Given the description of an element on the screen output the (x, y) to click on. 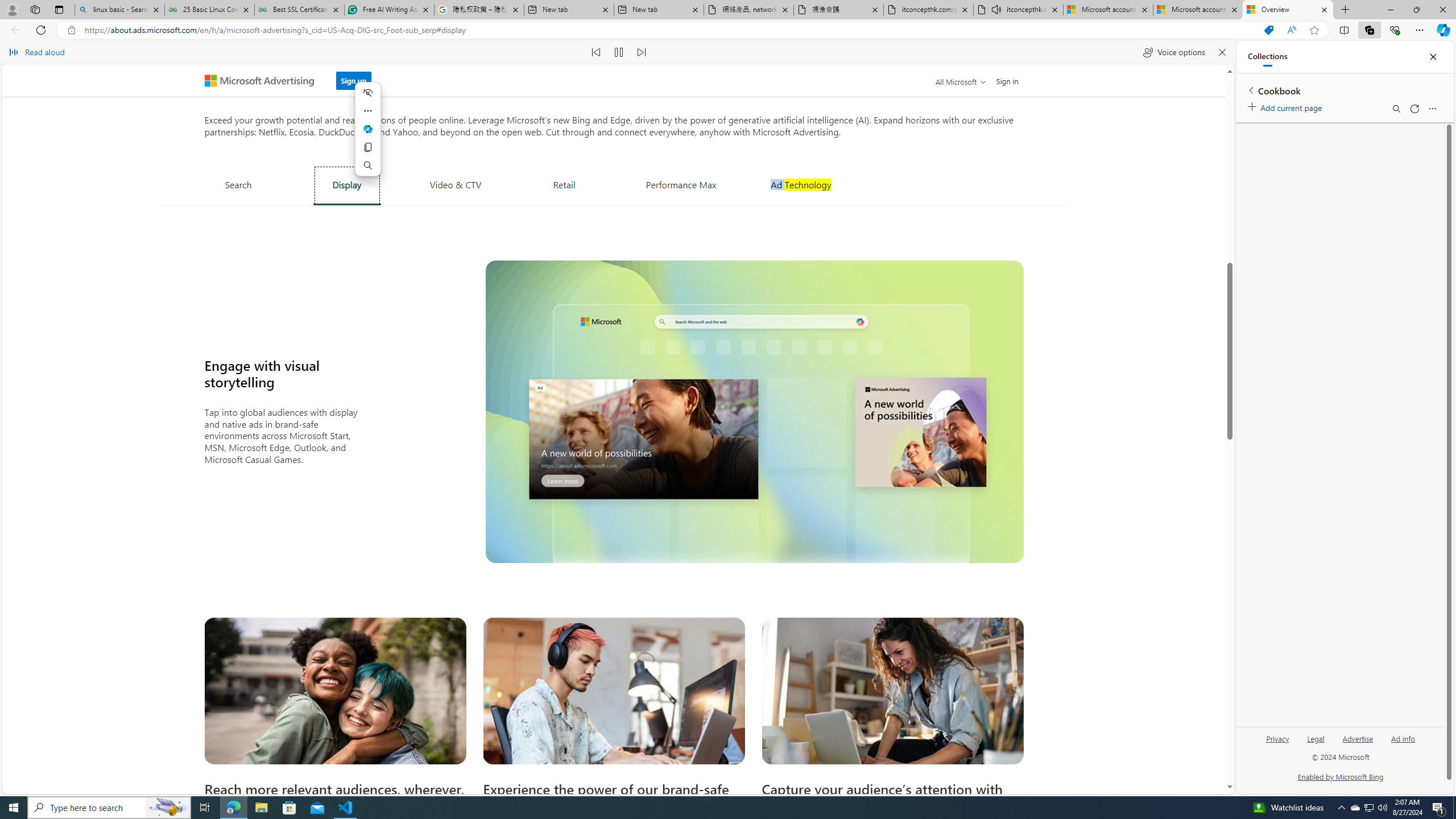
Ad Technology (801, 183)
Retail (563, 183)
Ad info (1402, 738)
25 Basic Linux Commands For Beginners - GeeksforGeeks (209, 9)
Video & CTV (454, 183)
Mute tab (996, 8)
The MSN homepage showing Display and Native Ads. (753, 411)
Ask Copilot (367, 129)
